Given the description of an element on the screen output the (x, y) to click on. 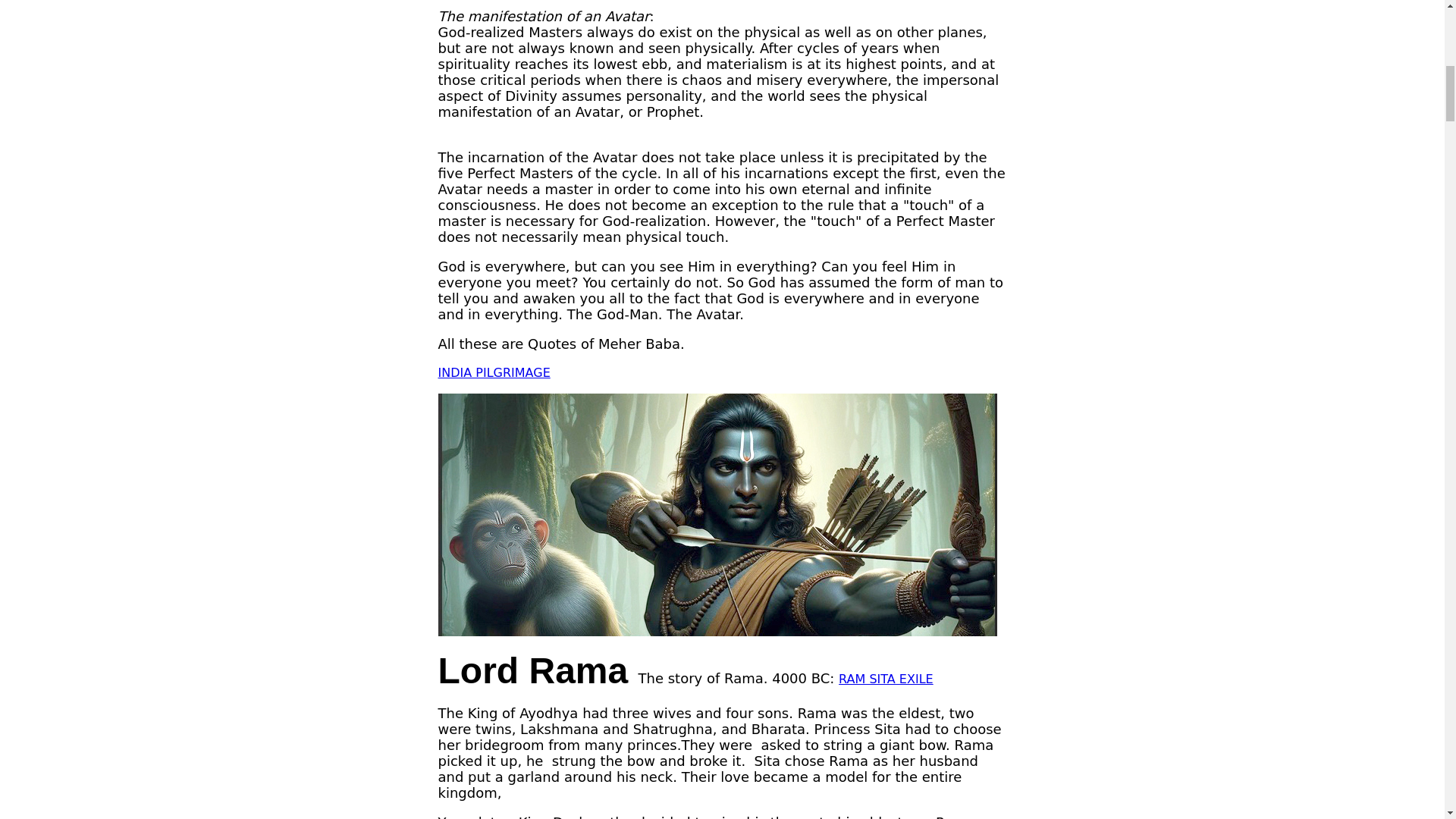
RAM SITA EXILE (885, 678)
INDIA PILGRIMAGE (494, 372)
